Given the description of an element on the screen output the (x, y) to click on. 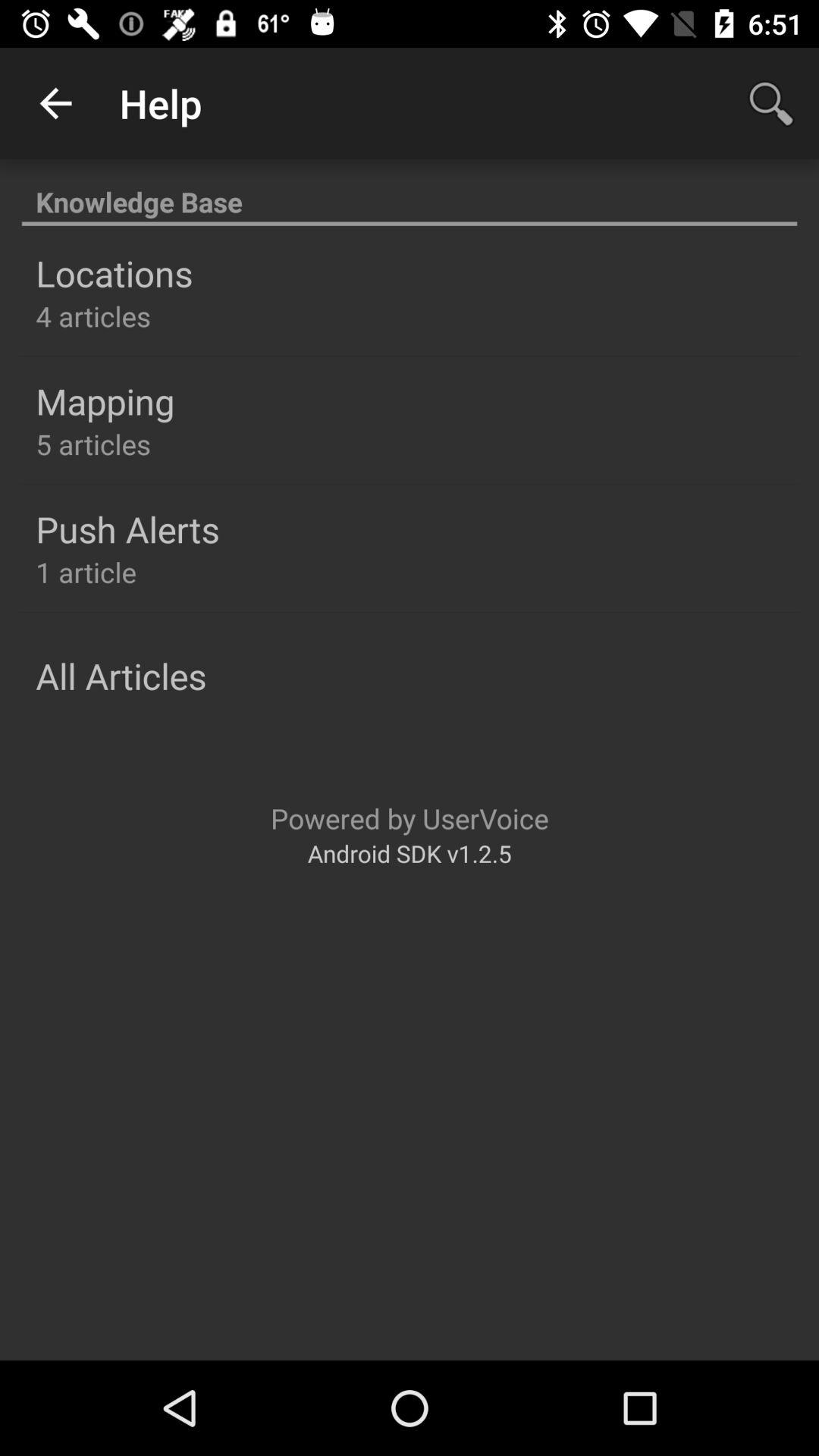
turn off the item above android sdk v1 (409, 818)
